Given the description of an element on the screen output the (x, y) to click on. 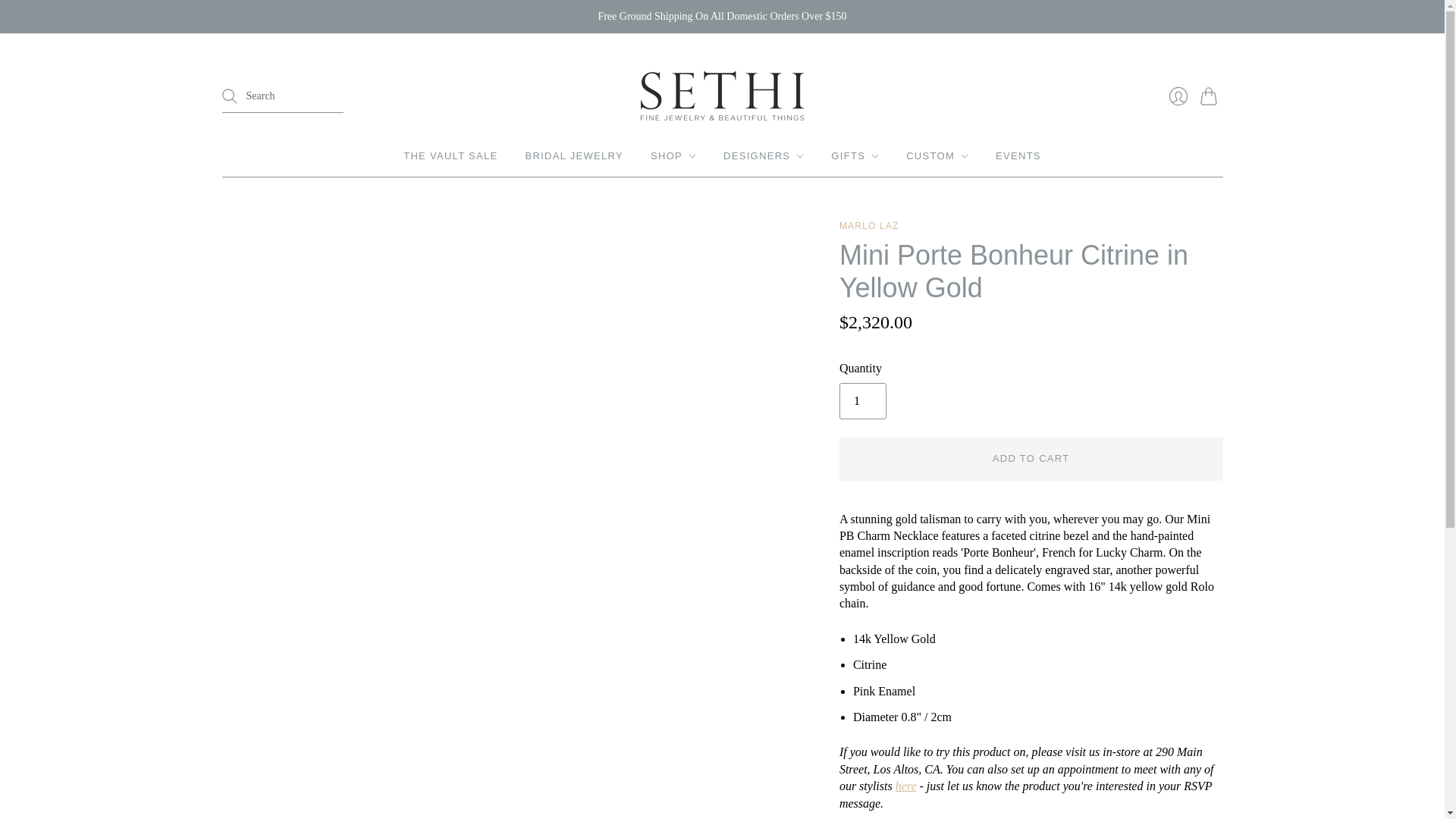
Marlo Laz (869, 225)
1 (863, 401)
THE VAULT SALE (450, 155)
SHOP (672, 155)
BRIDAL JEWELRY (574, 155)
Login (1177, 96)
Cart (1210, 96)
DESIGNERS (763, 155)
